Given the description of an element on the screen output the (x, y) to click on. 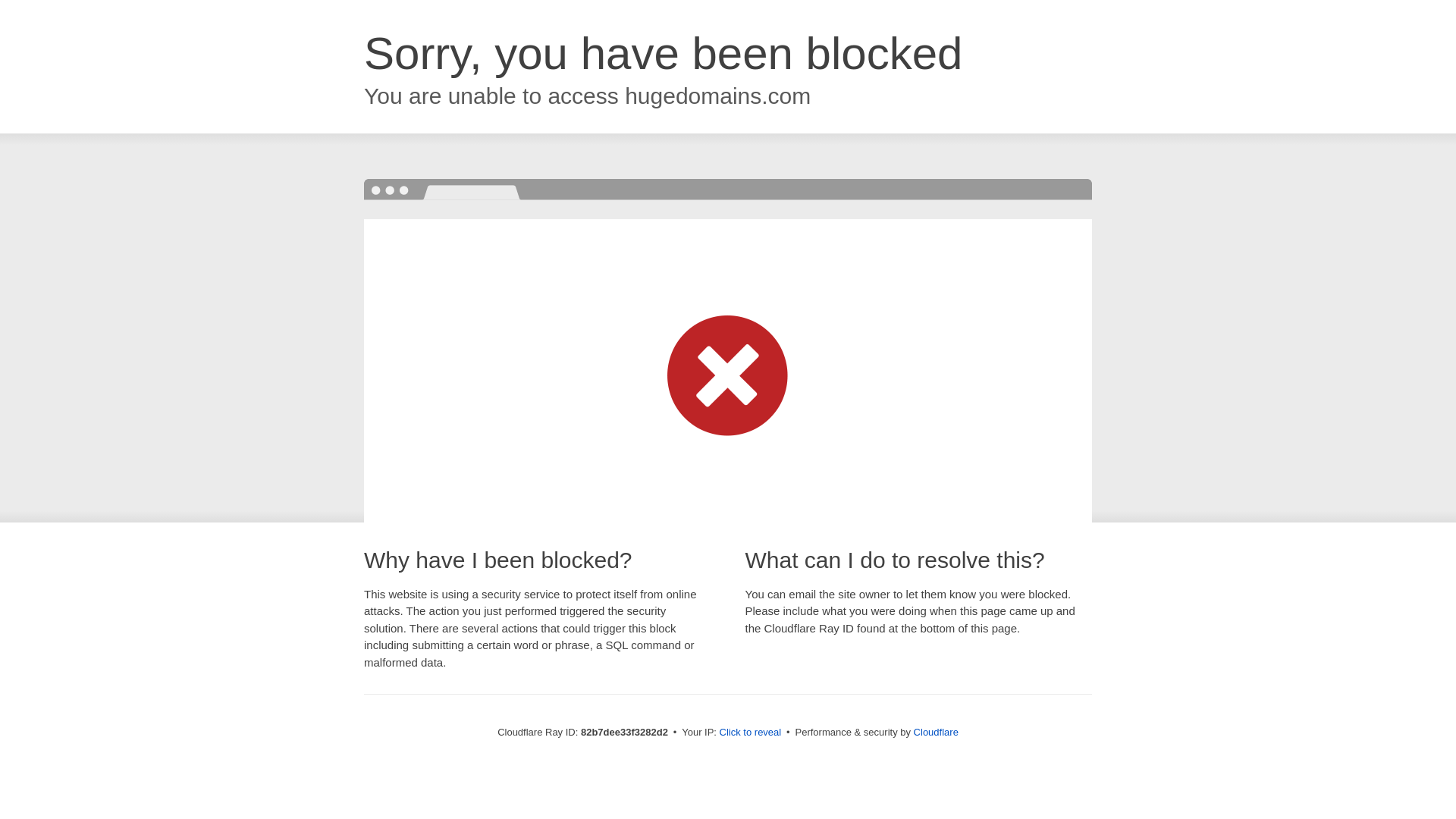
Click to reveal Element type: text (750, 732)
Cloudflare Element type: text (935, 731)
